Given the description of an element on the screen output the (x, y) to click on. 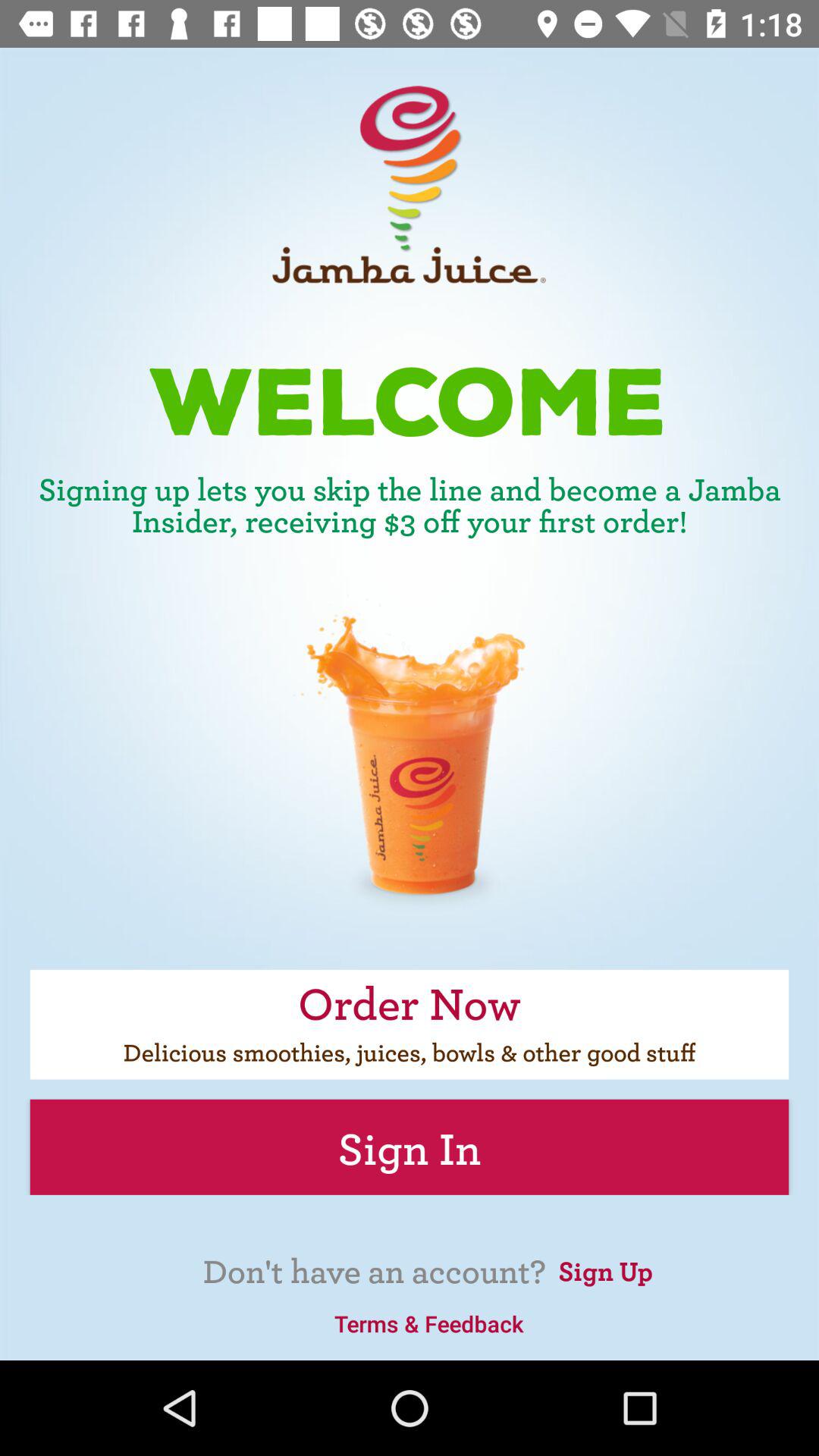
flip to terms & feedback icon (428, 1323)
